Given the description of an element on the screen output the (x, y) to click on. 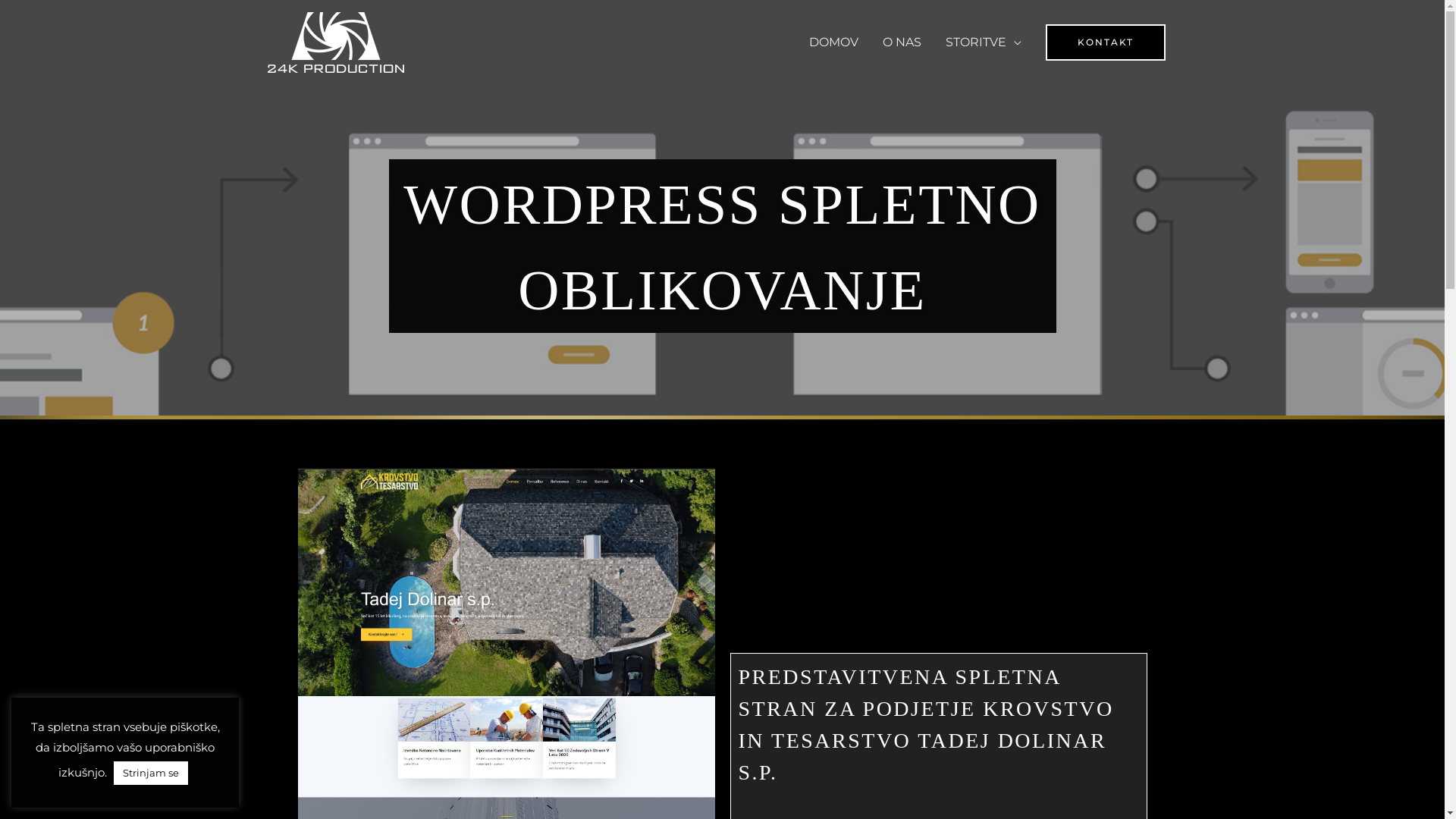
Strinjam se Element type: text (150, 772)
STORITVE Element type: text (982, 42)
O NAS Element type: text (901, 42)
KONTAKT Element type: text (1104, 42)
DOMOV Element type: text (832, 42)
